Given the description of an element on the screen output the (x, y) to click on. 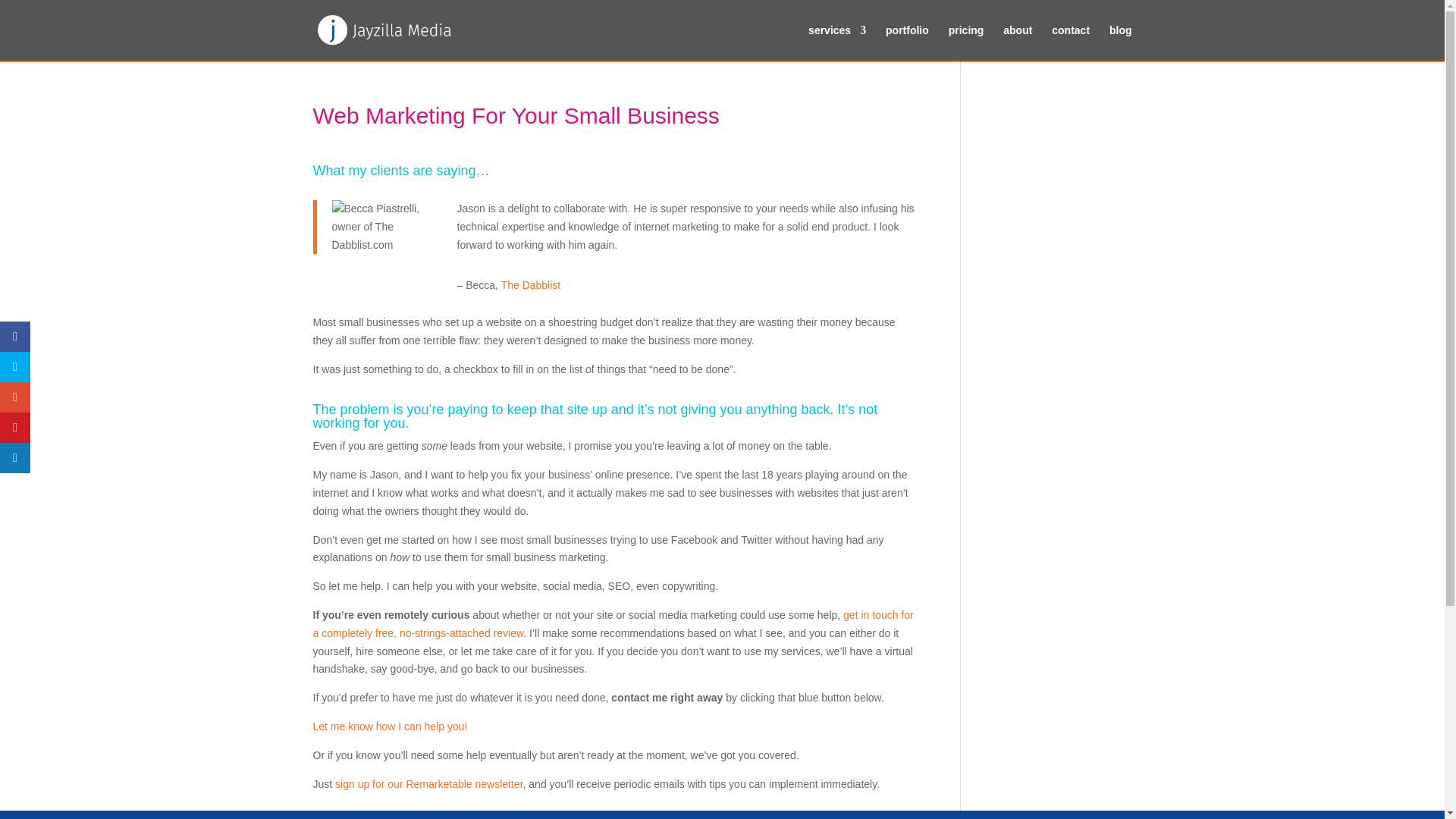
services (837, 42)
portfolio (906, 42)
contact (1070, 42)
The Dabblist (530, 285)
pricing (966, 42)
blog (1120, 42)
sign up for our Remarketable newsletter (428, 784)
Let me know how I can help you! (390, 726)
about (1017, 42)
